Given the description of an element on the screen output the (x, y) to click on. 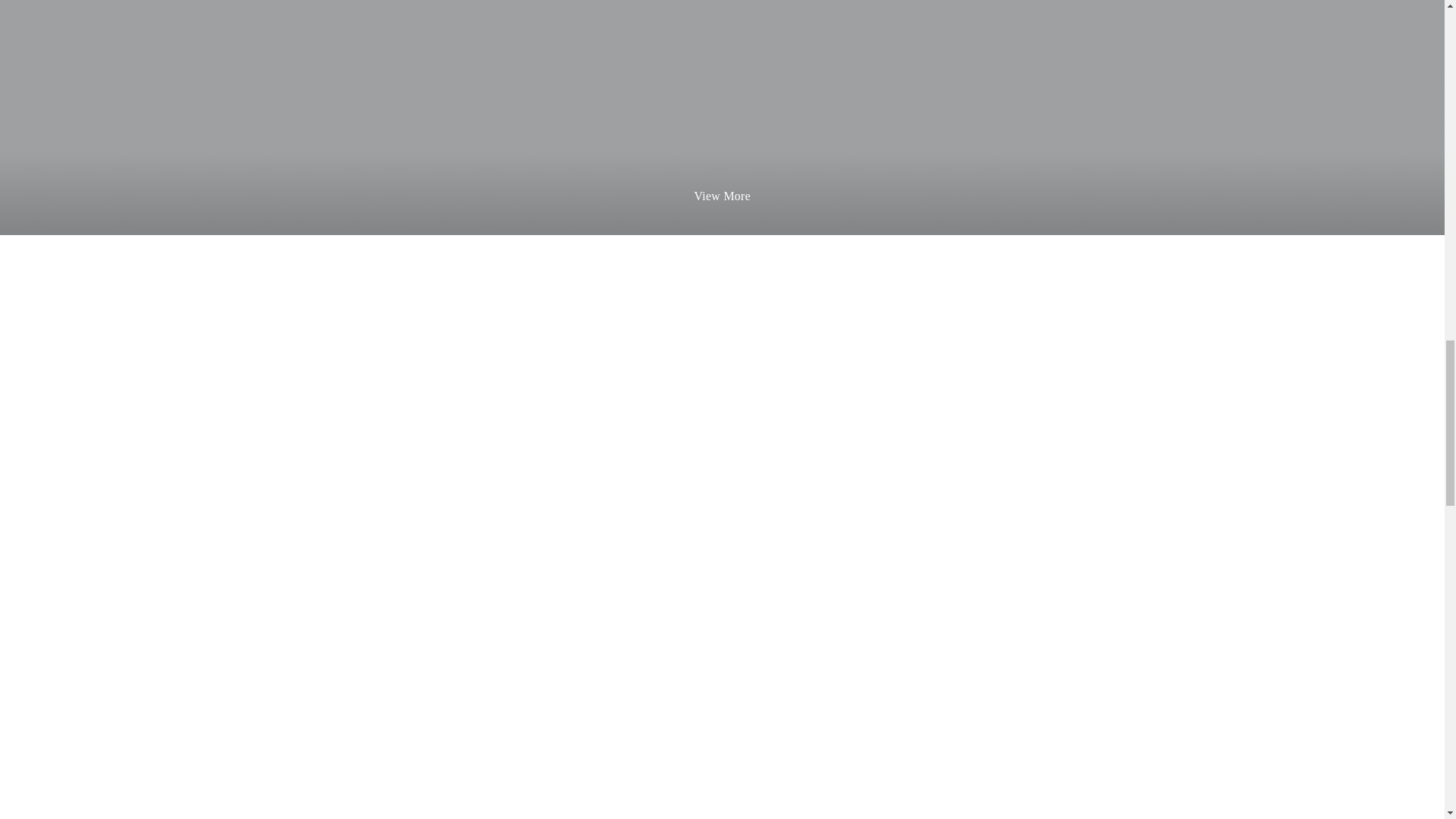
View More (722, 195)
